Given the description of an element on the screen output the (x, y) to click on. 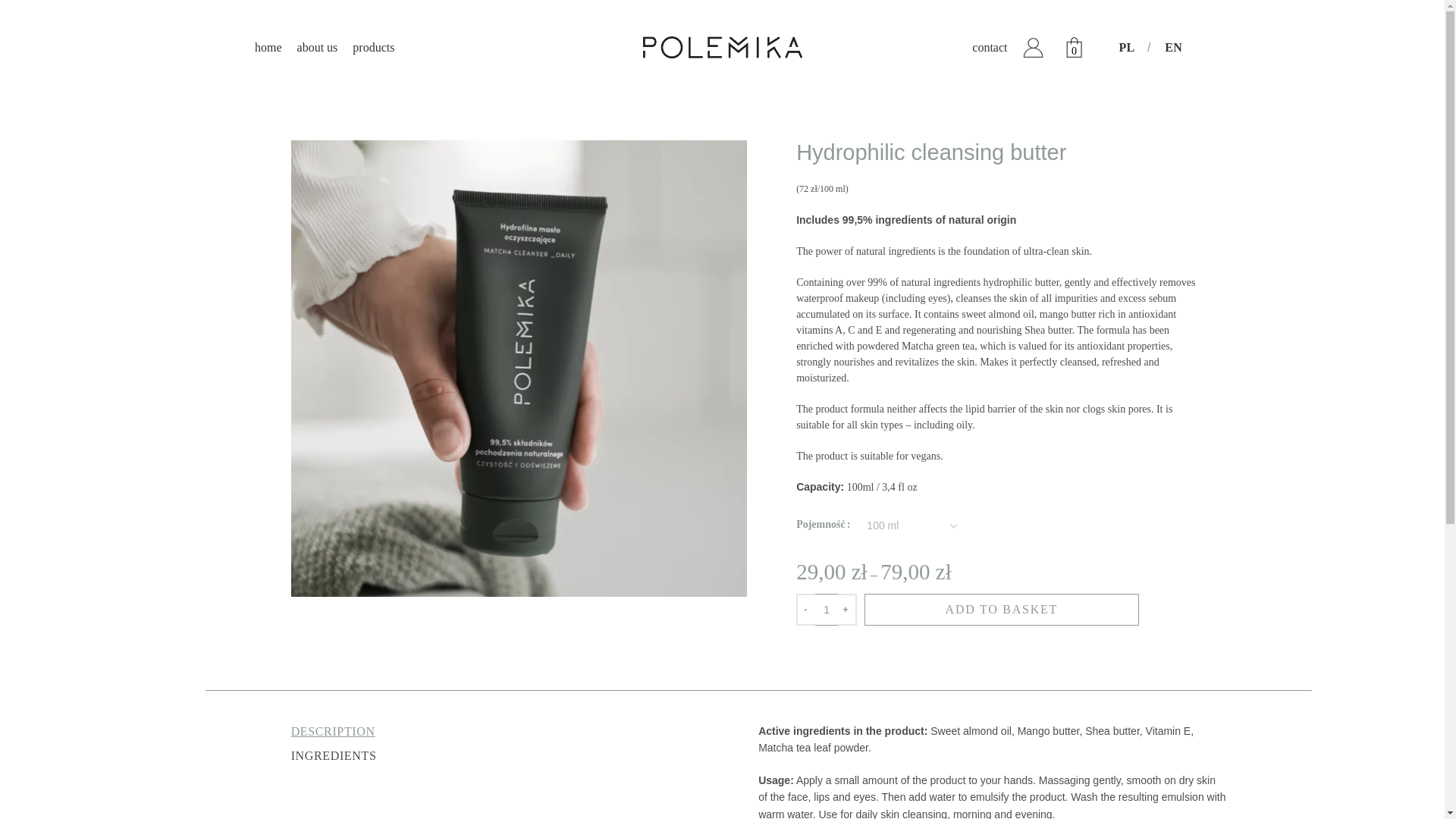
My account (1031, 46)
0 (1077, 46)
contact (989, 46)
home (268, 46)
about us (317, 46)
Shopping cart (1077, 46)
